Given the description of an element on the screen output the (x, y) to click on. 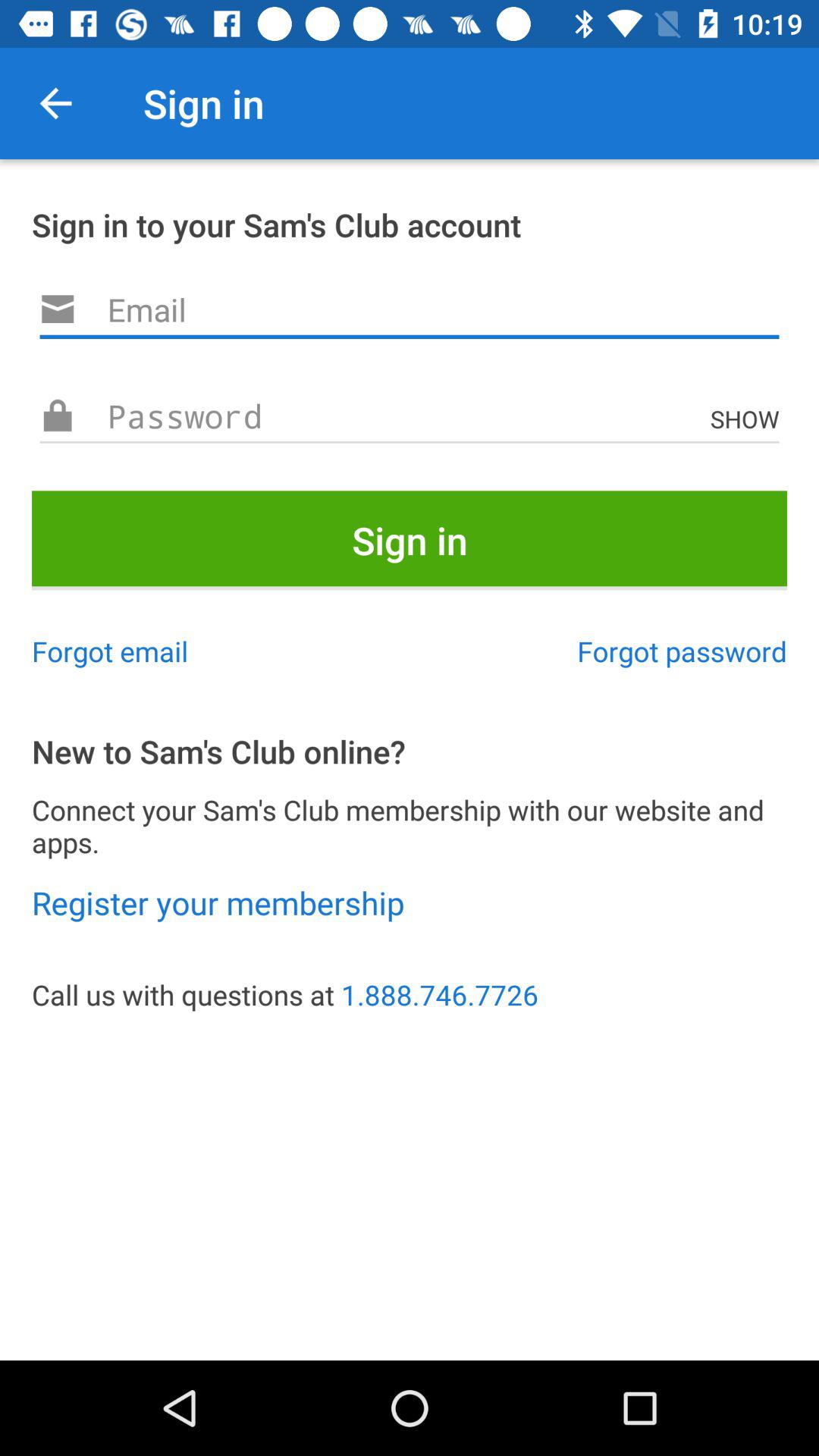
flip until forgot email item (109, 650)
